Given the description of an element on the screen output the (x, y) to click on. 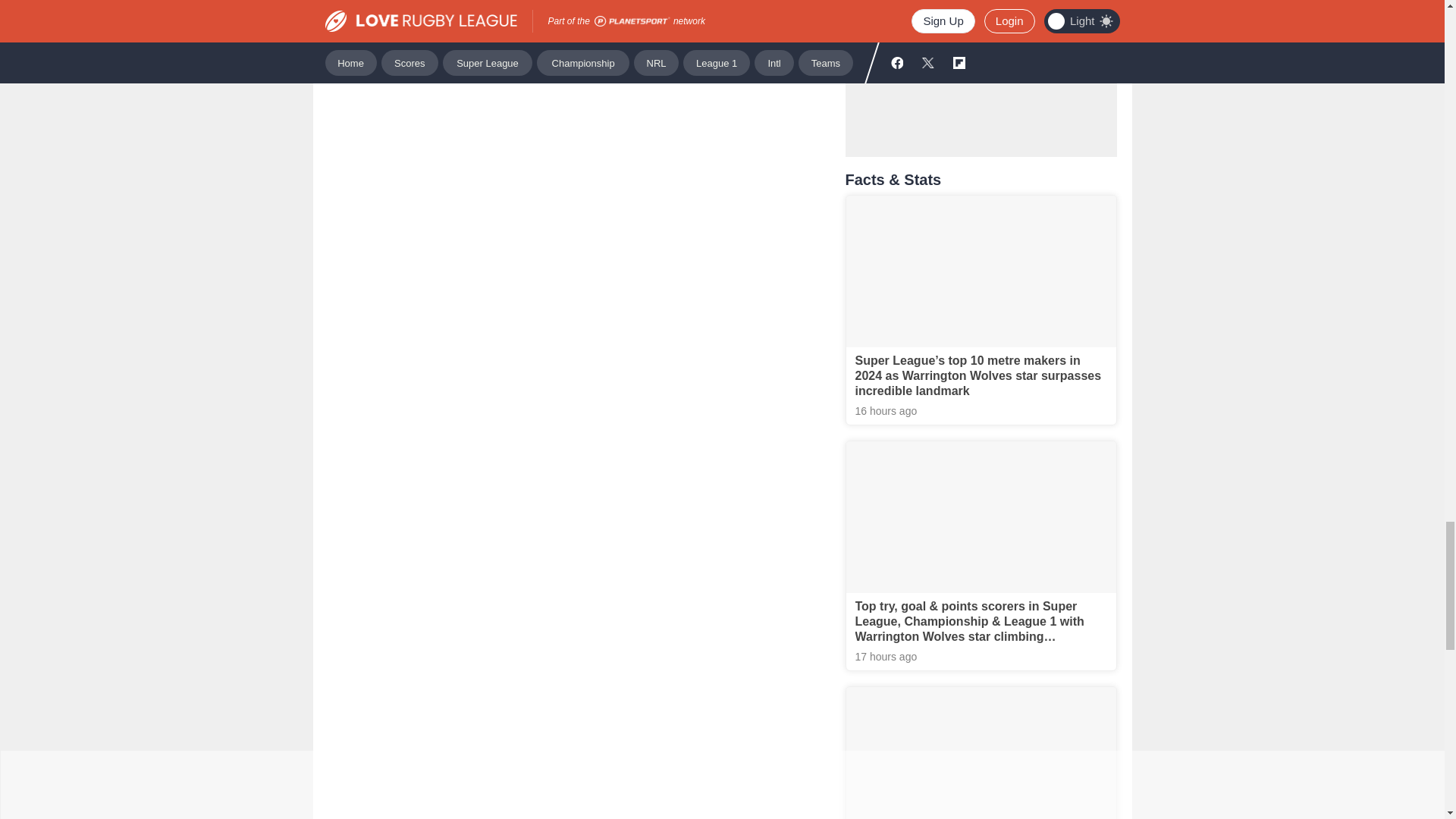
3rd party ad content (980, 65)
